Given the description of an element on the screen output the (x, y) to click on. 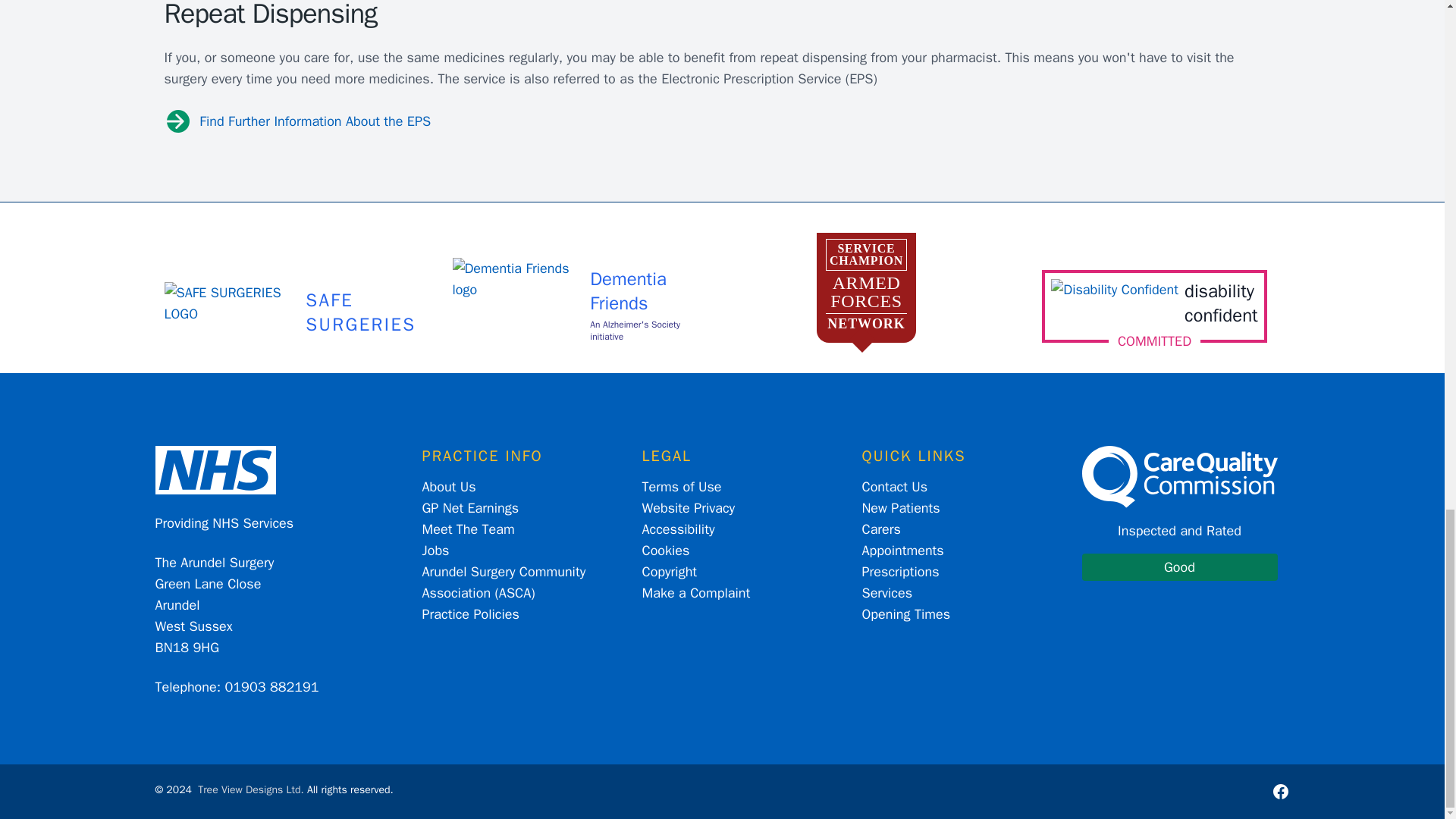
About Us (449, 486)
GP Net Earnings (470, 507)
01903 882191 (1154, 303)
Practice Policies (271, 686)
Meet The Team (470, 614)
Terms of Use (467, 528)
